Given the description of an element on the screen output the (x, y) to click on. 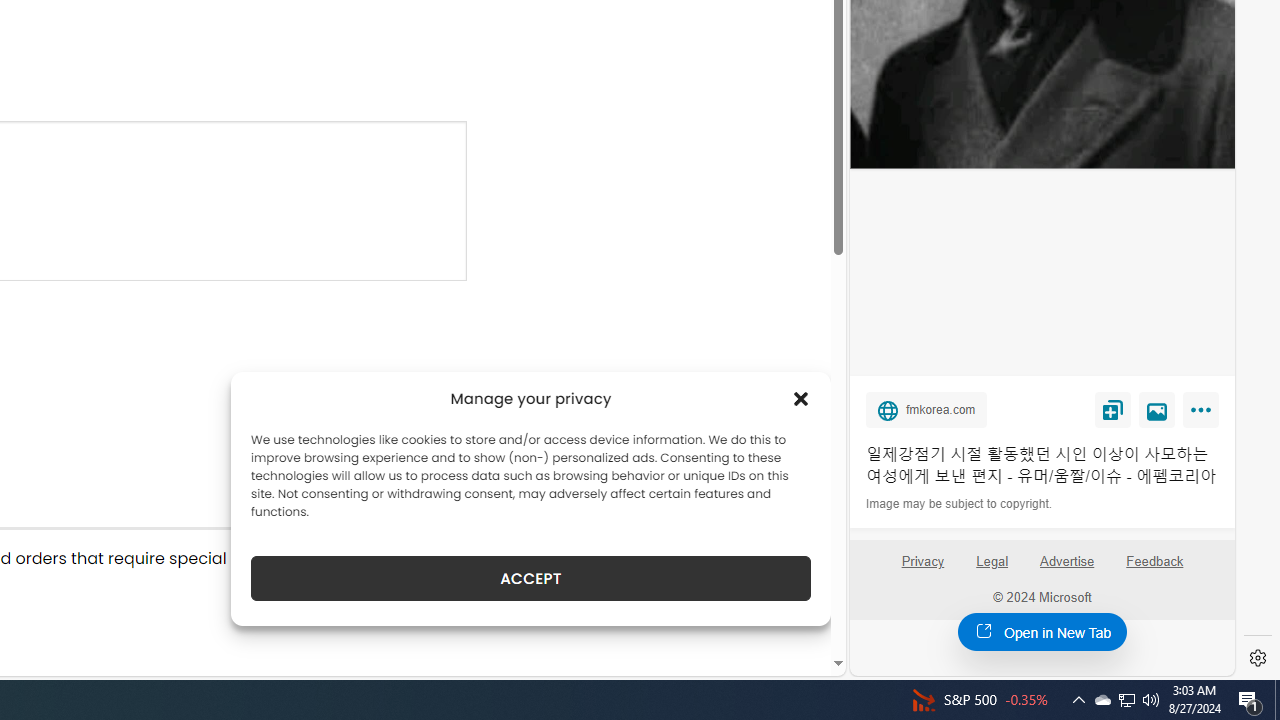
ACCEPT (530, 578)
Class: cmplz-close (801, 398)
